Given the description of an element on the screen output the (x, y) to click on. 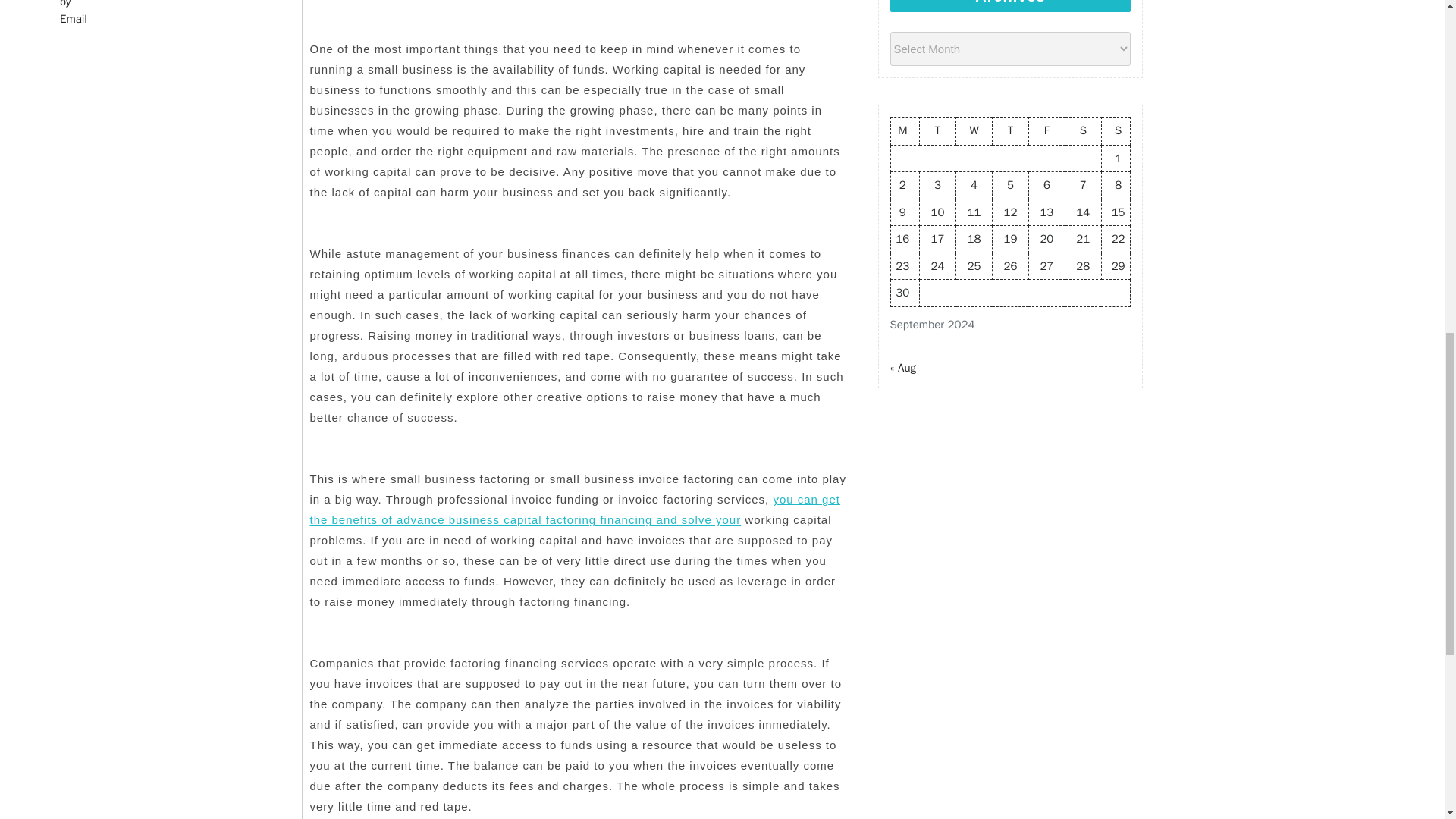
Follow by Email (74, 13)
Tuesday (938, 130)
Saturday (1082, 130)
Get more about Why get an invoice advance loan (574, 509)
Friday (1045, 130)
TOP (1397, 73)
Monday (904, 130)
Thursday (1009, 130)
Wednesday (974, 130)
